Given the description of an element on the screen output the (x, y) to click on. 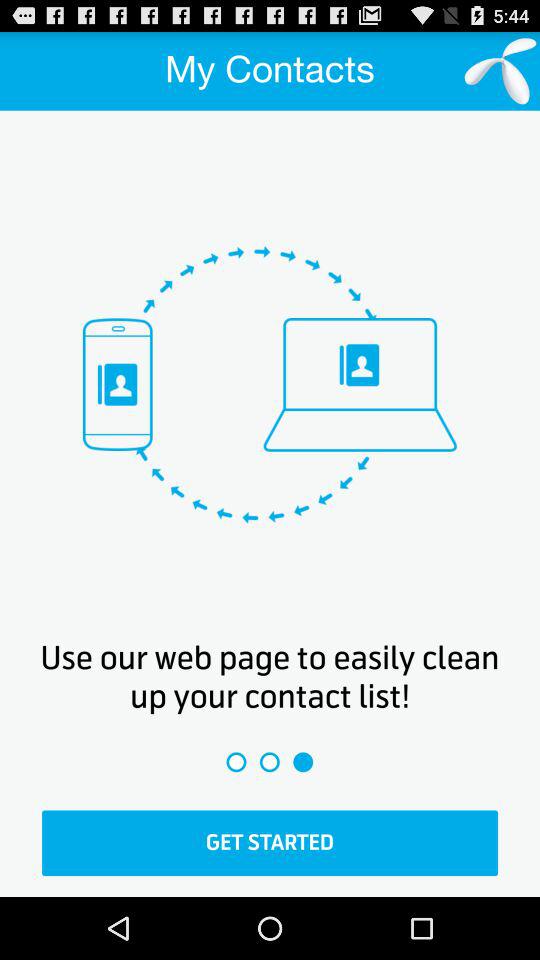
click get started icon (269, 843)
